Given the description of an element on the screen output the (x, y) to click on. 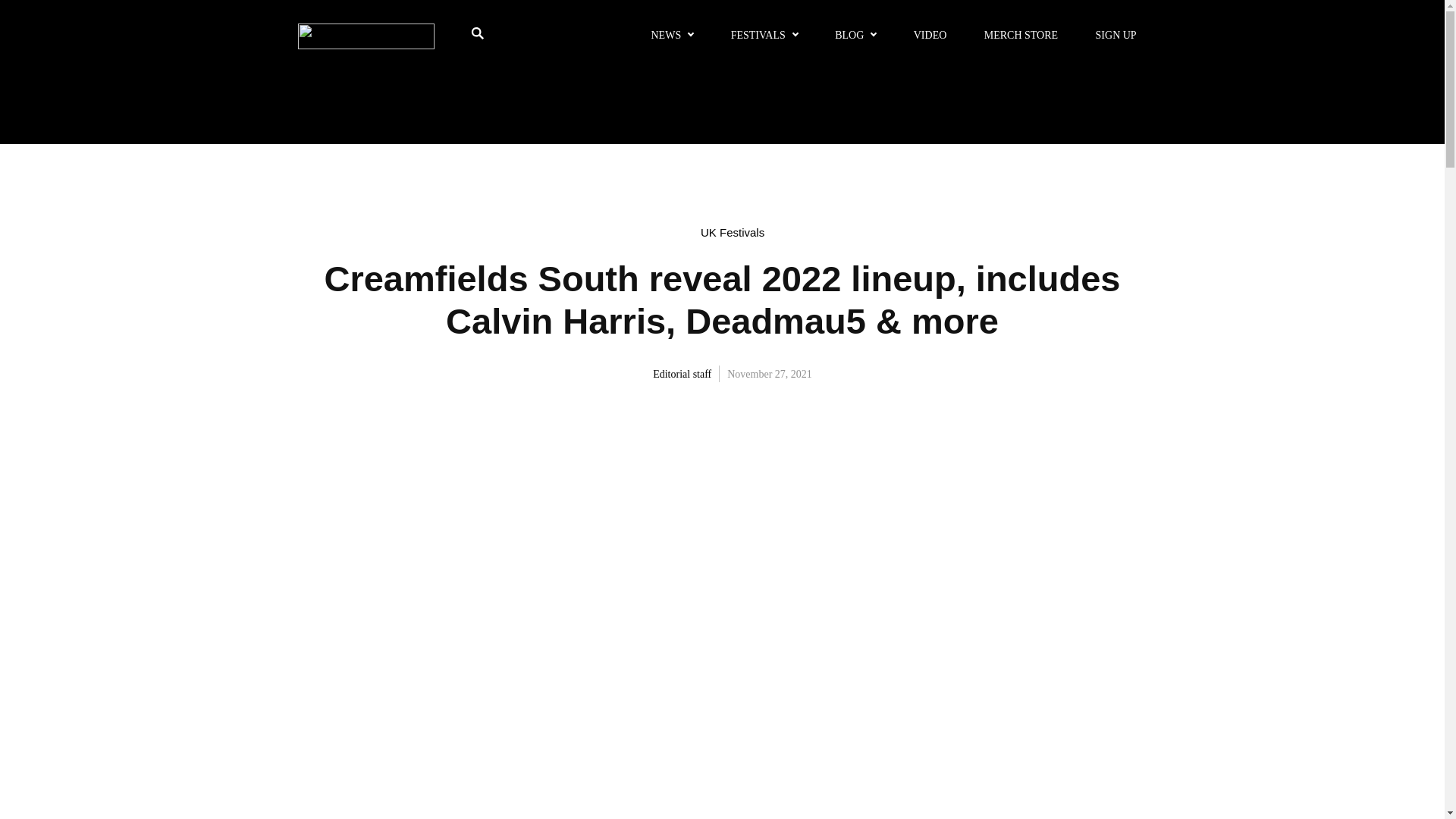
MERCH STORE (1021, 35)
FESTIVALS (764, 35)
NEWS (670, 35)
VIDEO (930, 35)
Editorial staff (675, 373)
UK Festivals (732, 232)
BLOG (855, 35)
SIGN UP (1115, 35)
